Given the description of an element on the screen output the (x, y) to click on. 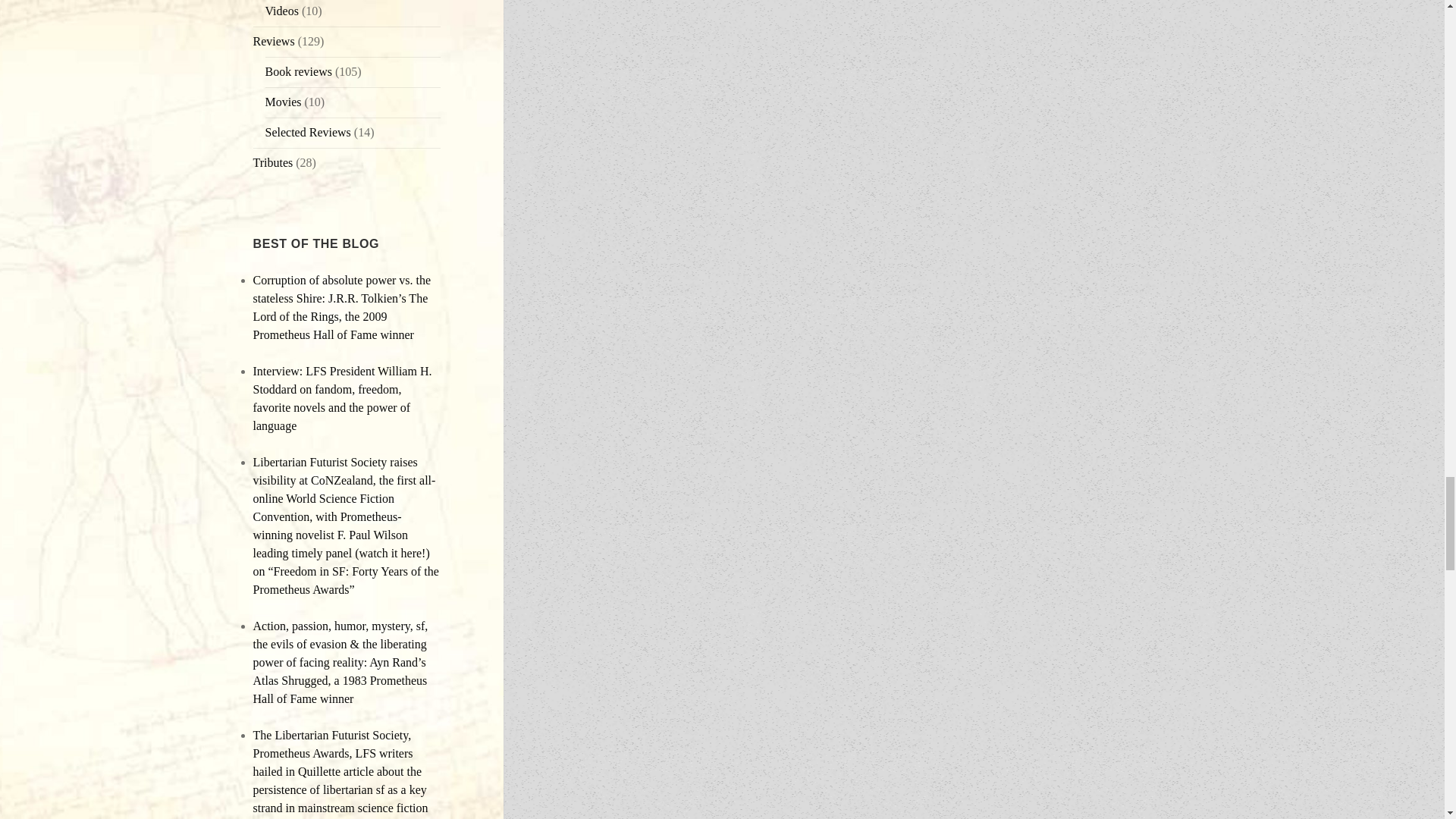
Obituaries (273, 162)
